Given the description of an element on the screen output the (x, y) to click on. 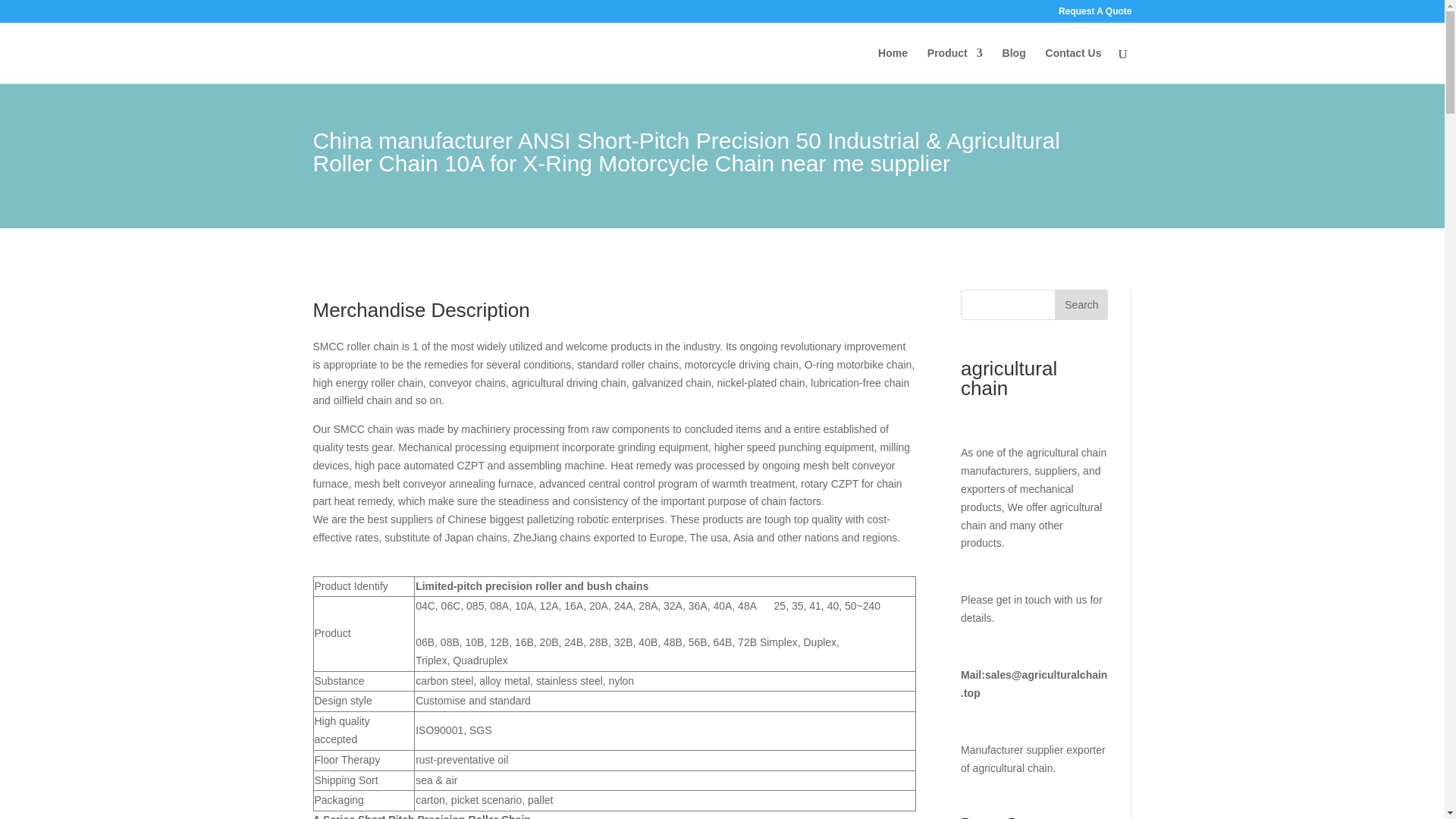
Product (954, 65)
Contact Us (1073, 65)
Search (1081, 304)
Request A Quote (1094, 14)
